Given the description of an element on the screen output the (x, y) to click on. 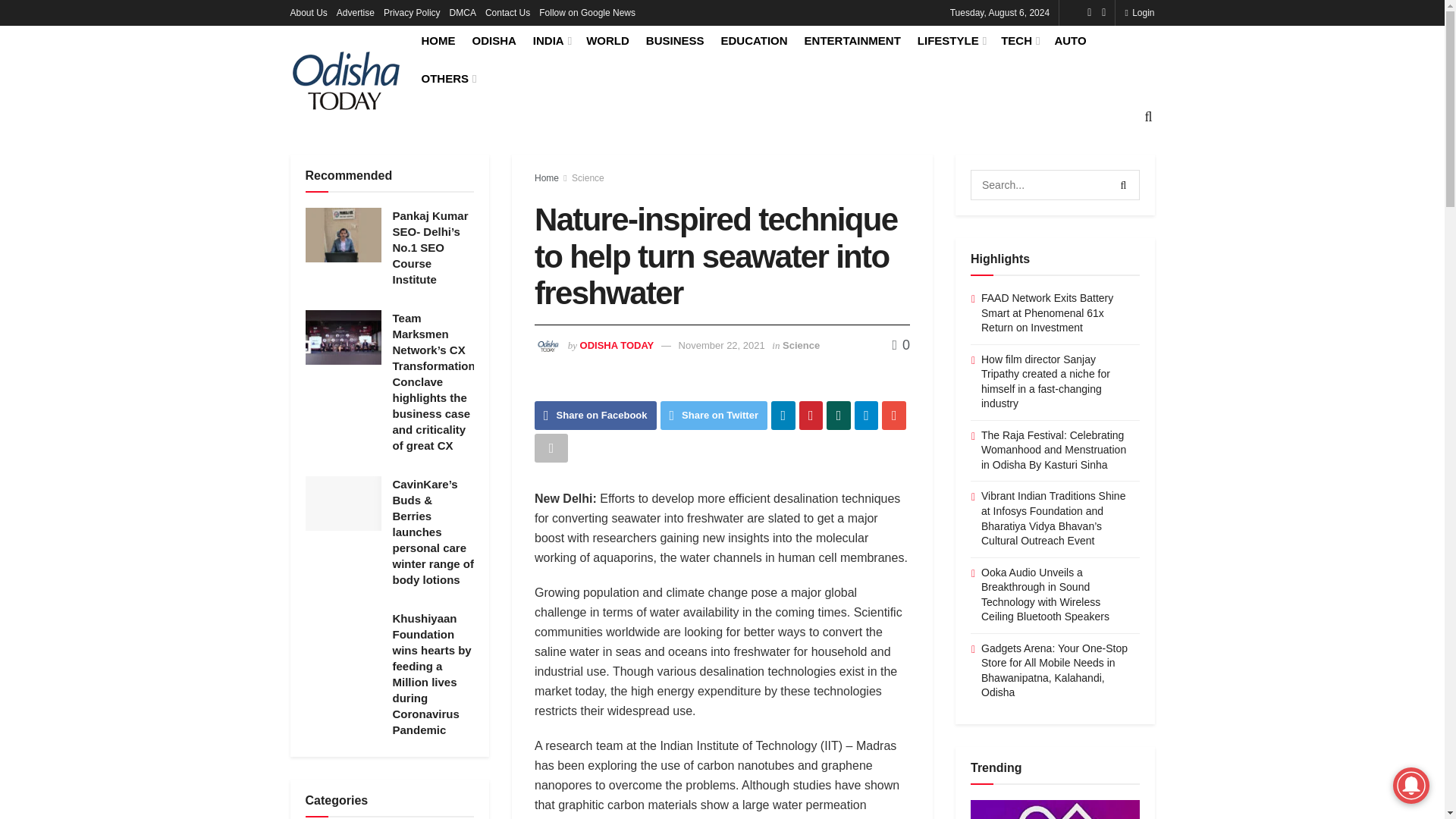
AUTO (1070, 40)
BUSINESS (675, 40)
Advertise (355, 12)
OTHERS (448, 78)
Privacy Policy (412, 12)
WORLD (607, 40)
About Us (307, 12)
HOME (438, 40)
EDUCATION (753, 40)
Login (1139, 12)
DMCA (462, 12)
INDIA (550, 40)
TECH (1018, 40)
LIFESTYLE (950, 40)
ODISHA (493, 40)
